Given the description of an element on the screen output the (x, y) to click on. 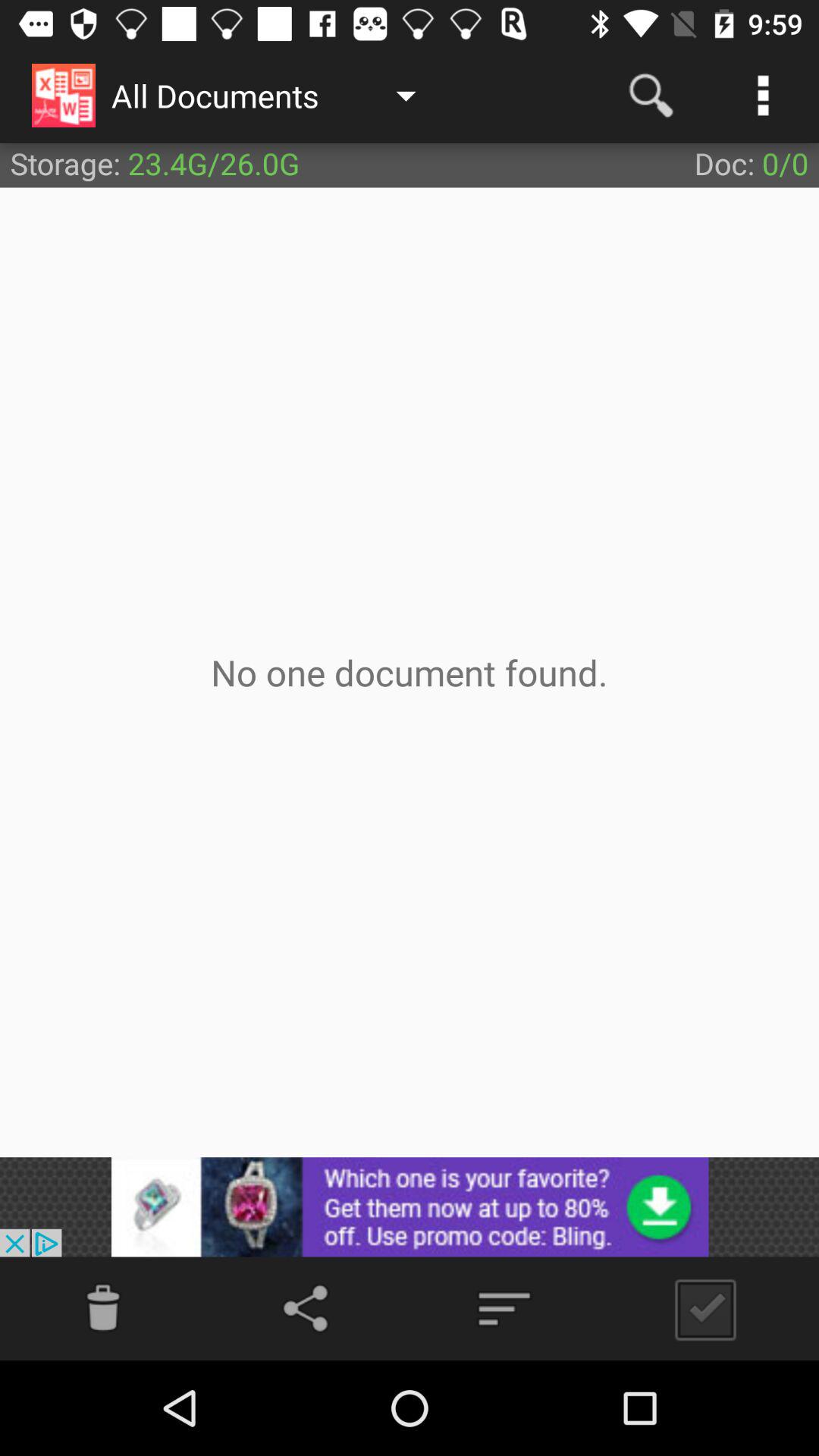
toggle the advertisement option (409, 1206)
